Given the description of an element on the screen output the (x, y) to click on. 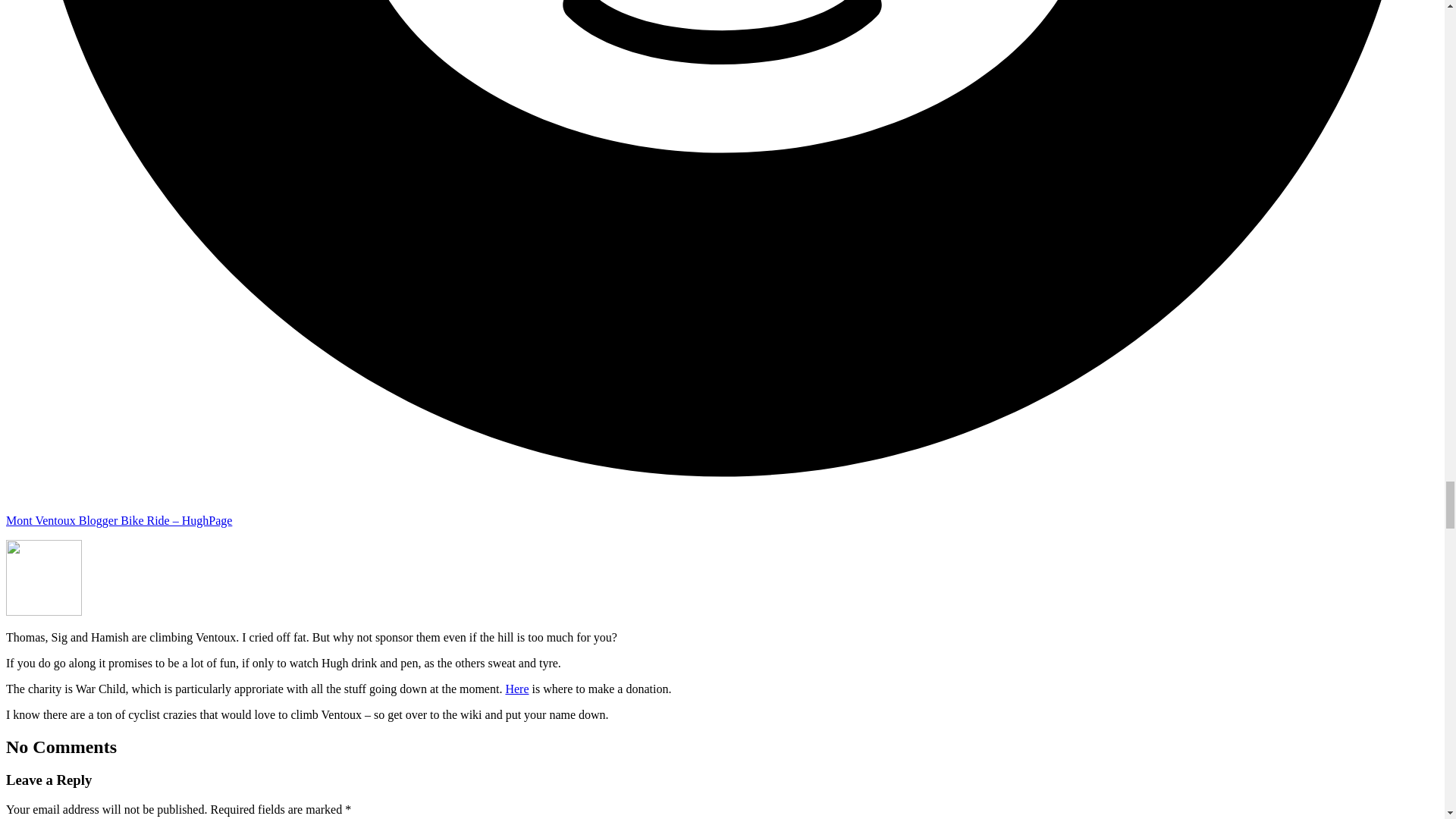
Mont Ventoux Blogger Bike Ride - HughPage (118, 520)
Here (516, 688)
